Given the description of an element on the screen output the (x, y) to click on. 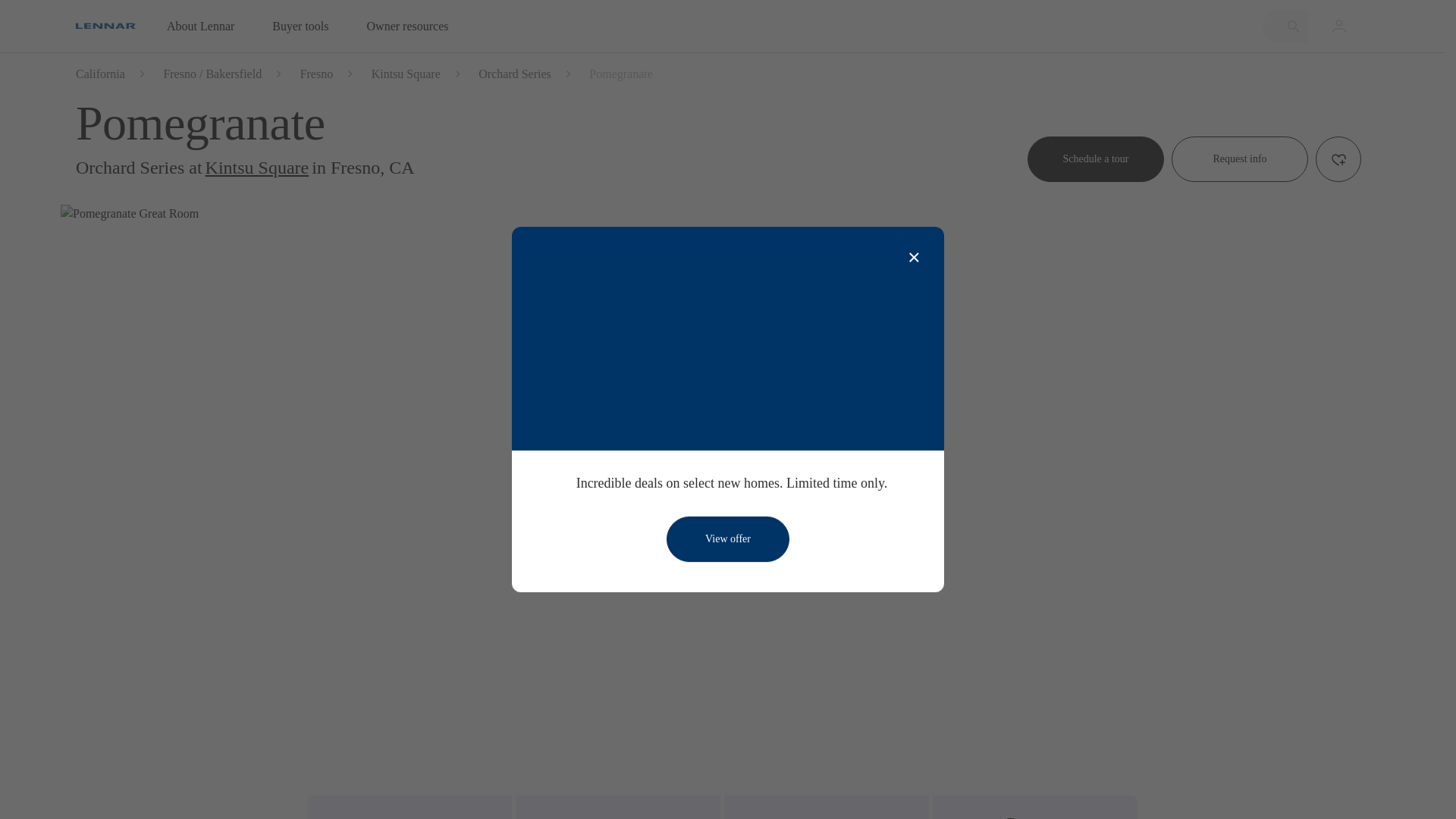
View offer (727, 538)
